Given the description of an element on the screen output the (x, y) to click on. 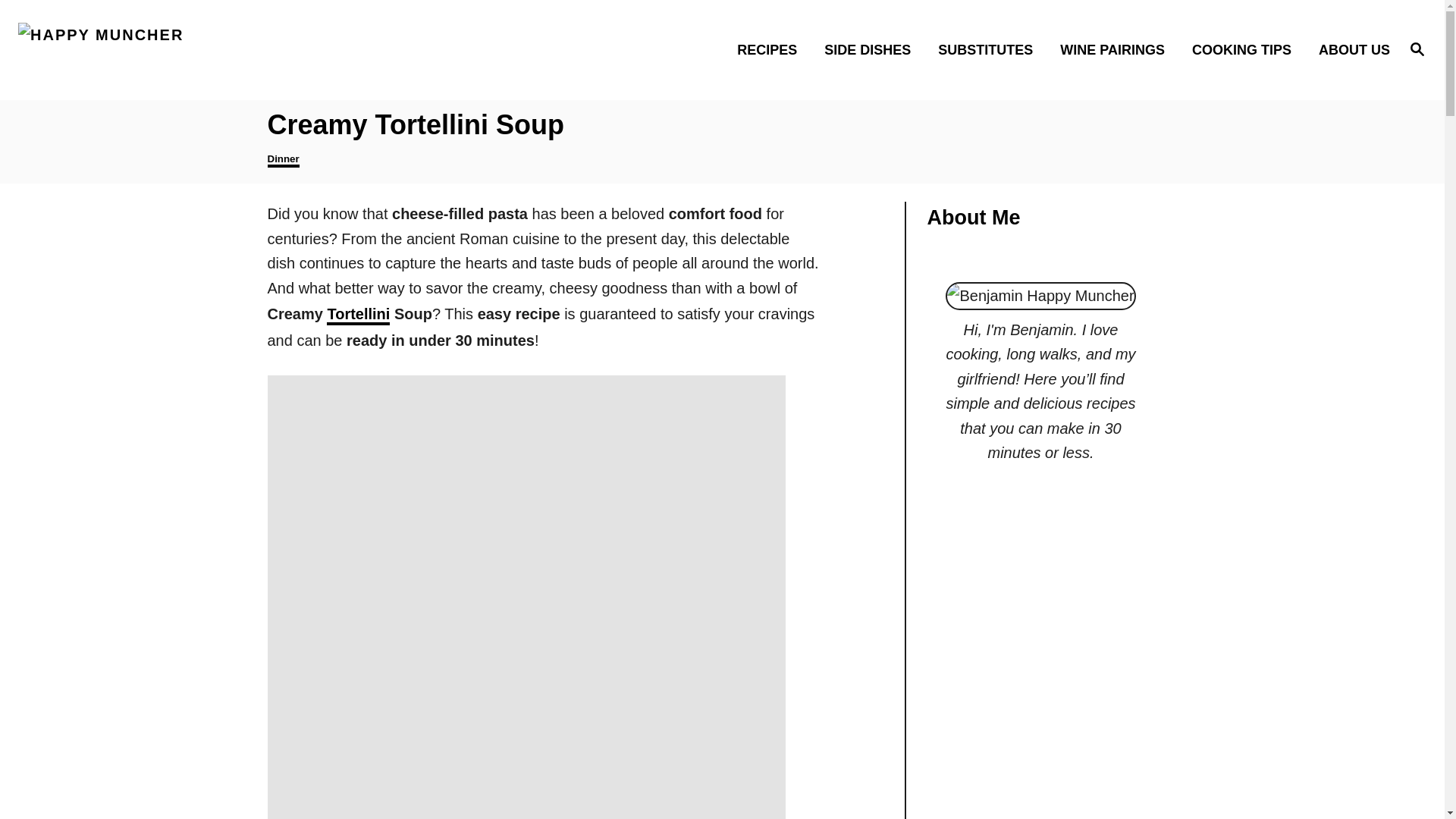
SUBSTITUTES (989, 49)
COOKING TIPS (1245, 49)
Happy Muncher (187, 49)
Tortellini (358, 315)
RECIPES (771, 49)
WINE PAIRINGS (1116, 49)
Magnifying Glass (1416, 48)
SIDE DISHES (871, 49)
Tortellini (358, 315)
Dinner (282, 160)
ABOUT US (1349, 49)
